Given the description of an element on the screen output the (x, y) to click on. 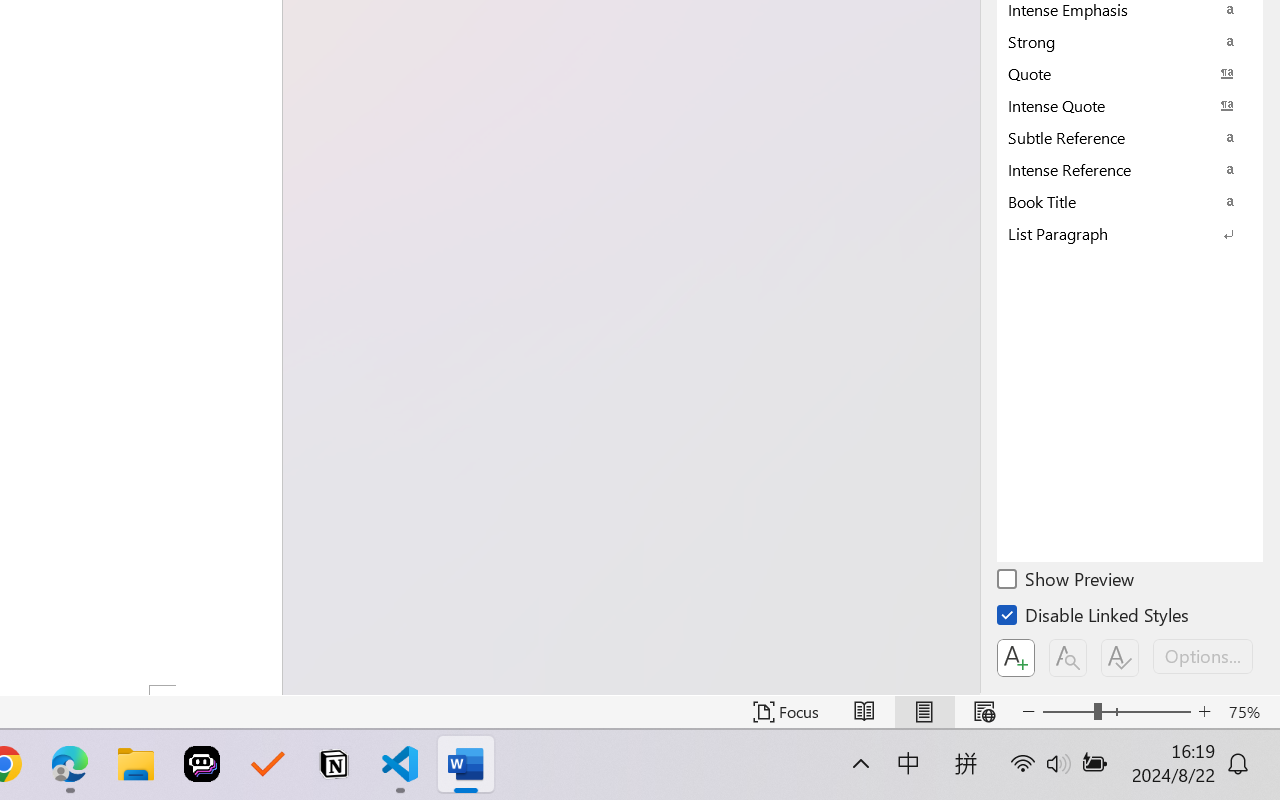
Options... (1203, 656)
Disable Linked Styles (1094, 618)
